Given the description of an element on the screen output the (x, y) to click on. 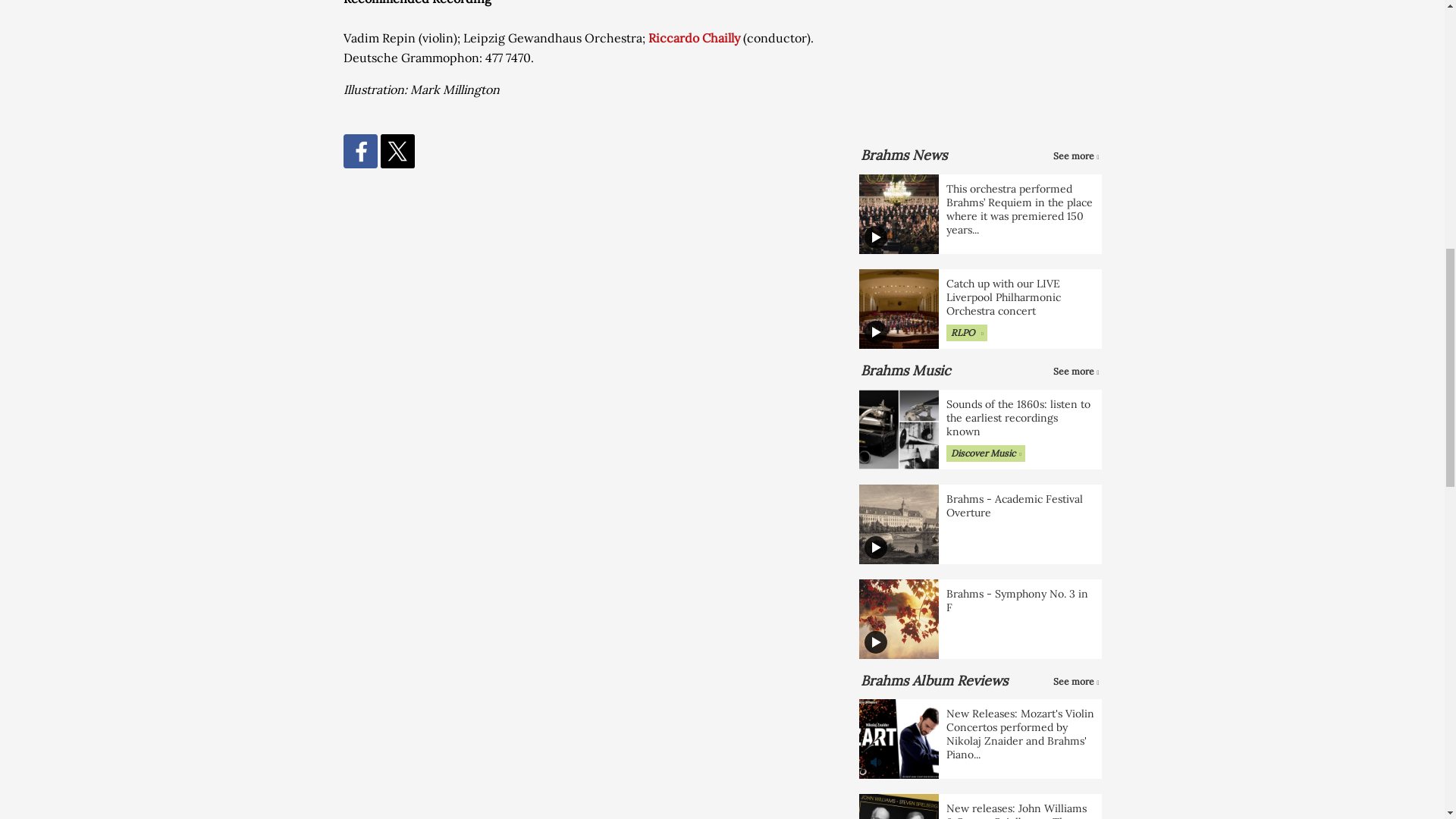
Riccardo Chailly (693, 37)
